Given the description of an element on the screen output the (x, y) to click on. 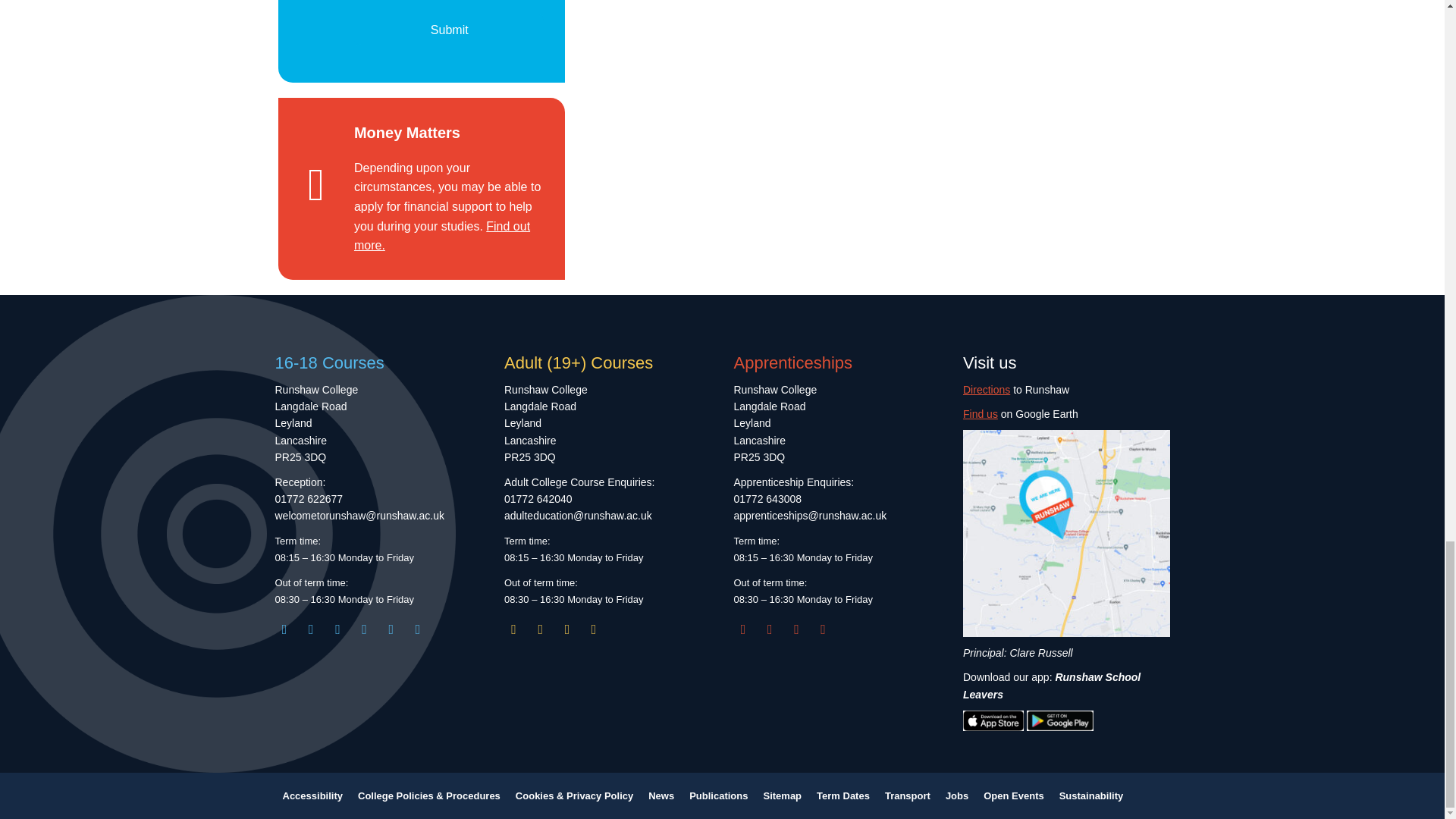
16-18 Campus (378, 629)
runshawcollege 16-18 Campus instagram (284, 629)
RunshawCollegeSFC 16-18 Campus facebook (310, 629)
